Given the description of an element on the screen output the (x, y) to click on. 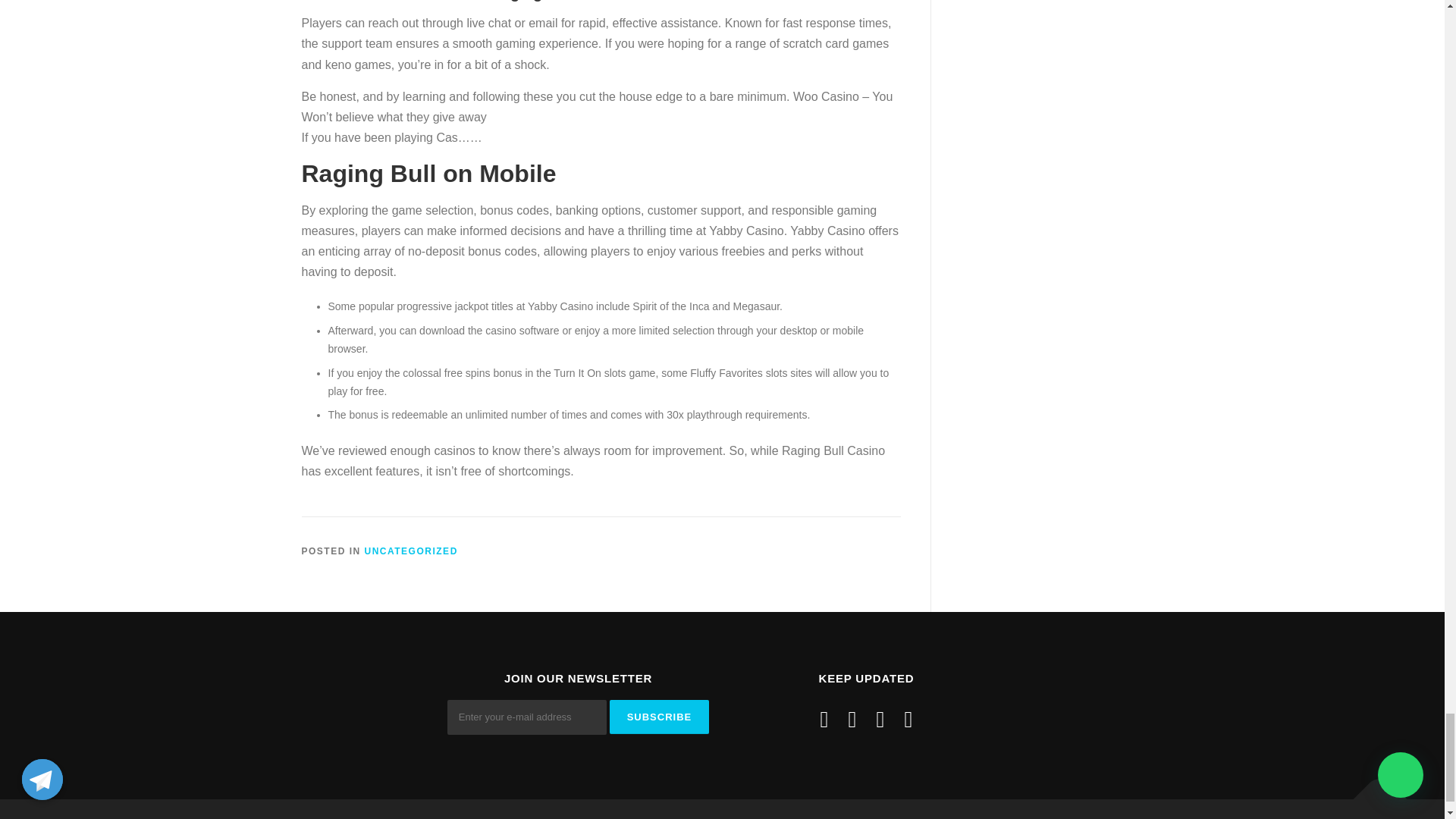
Subscribe (660, 716)
Back To Top (1372, 791)
